Given the description of an element on the screen output the (x, y) to click on. 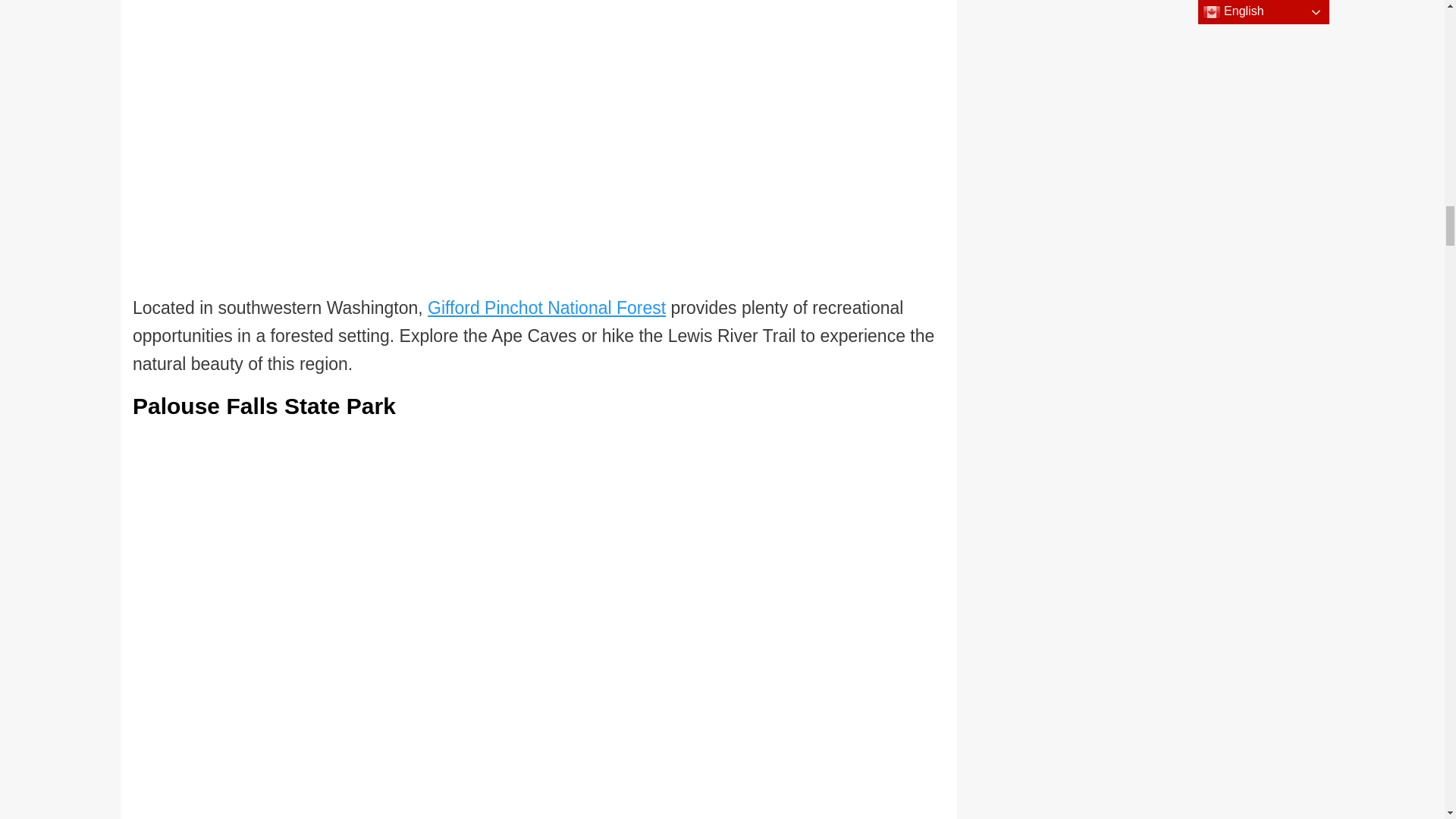
Gifford Pinchot National Forest (546, 307)
